Given the description of an element on the screen output the (x, y) to click on. 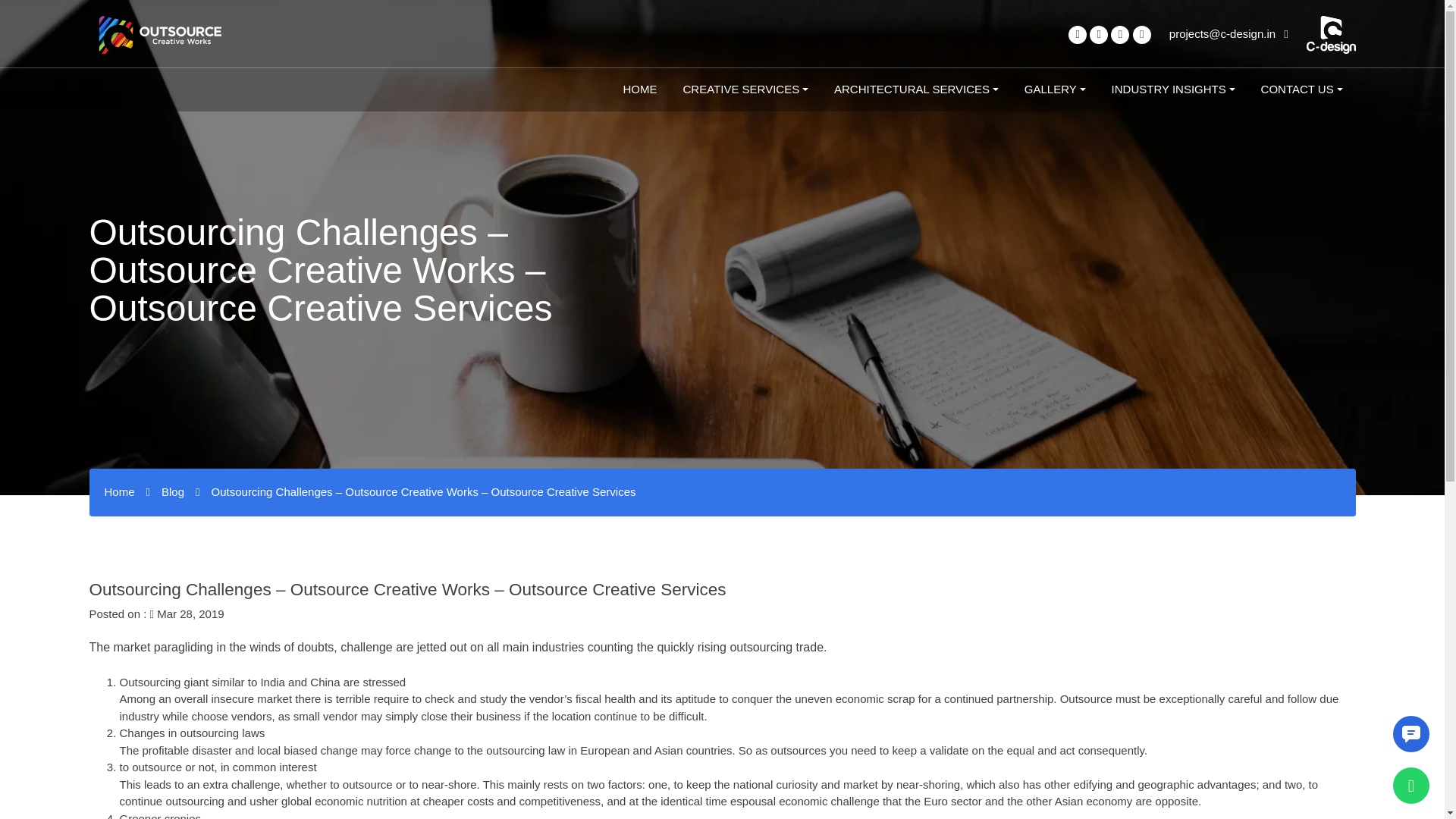
HOME (639, 90)
CREATIVE SERVICES (745, 90)
GALLERY (1055, 90)
ARCHITECTURAL SERVICES (916, 90)
